Given the description of an element on the screen output the (x, y) to click on. 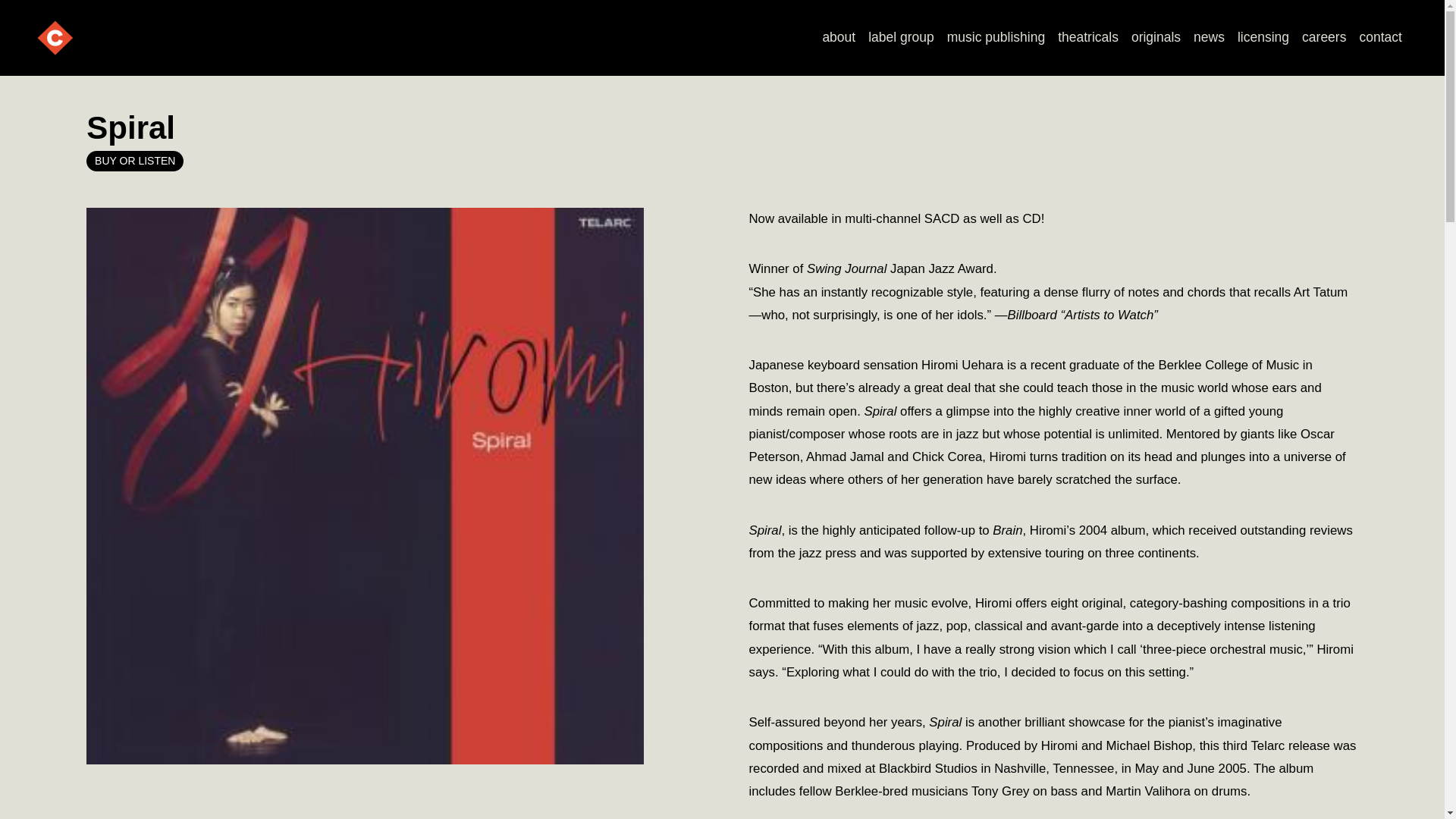
music publishing (995, 38)
about (838, 38)
licensing (1262, 38)
theatricals (1088, 38)
label group (900, 38)
originals (1155, 38)
news (1209, 38)
careers (1323, 38)
contact (1379, 38)
